Given the description of an element on the screen output the (x, y) to click on. 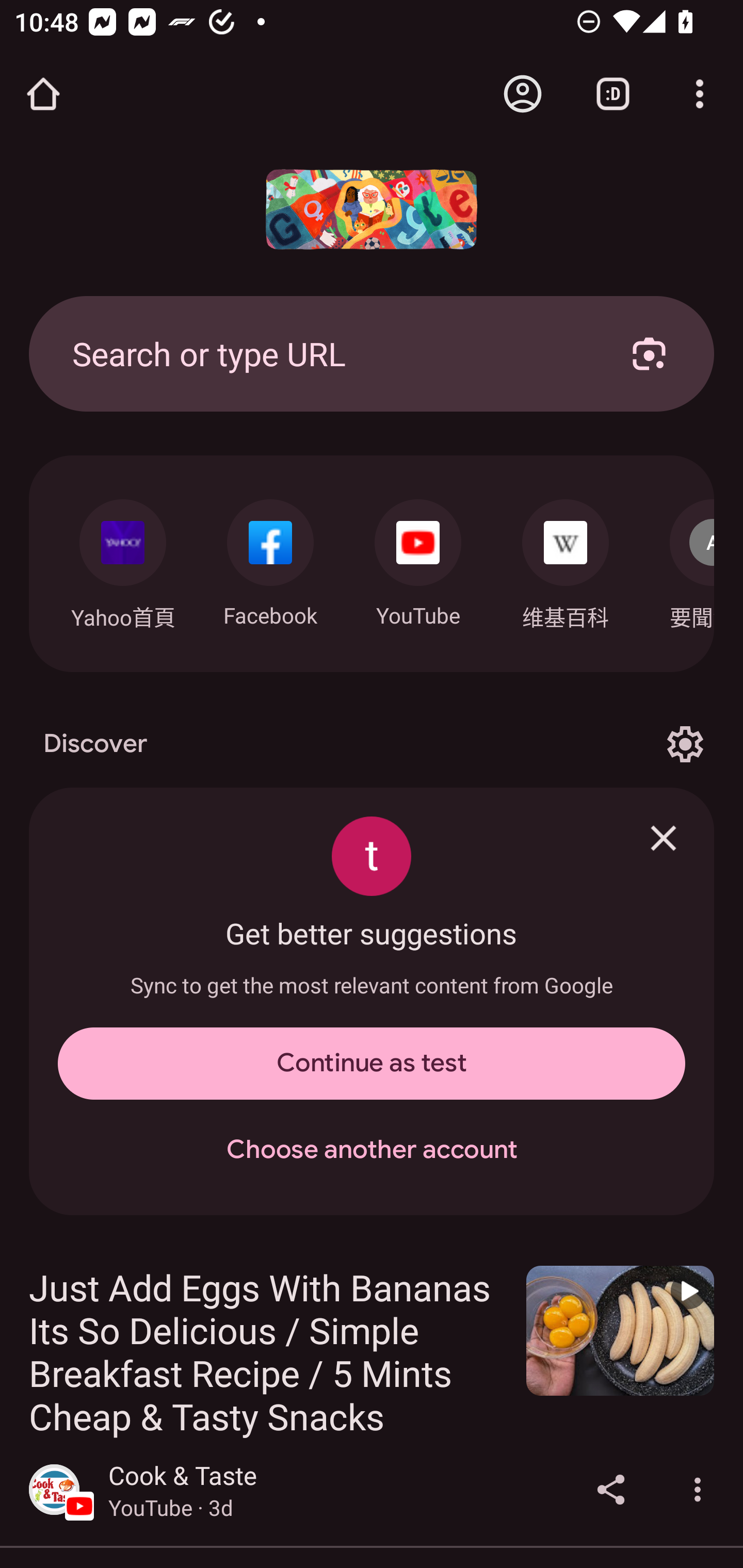
Open the home page (43, 93)
Switch or close tabs (612, 93)
Customize and control Google Chrome (699, 93)
Google doodle: 2024 年國際婦女節 (371, 209)
Search or type URL (327, 353)
Search with your camera using Google Lens (648, 353)
Navigate: Yahoo首頁: hk.mobi.yahoo.com Yahoo首頁 (122, 558)
Navigate: Facebook: m.facebook.com Facebook (270, 558)
Navigate: YouTube: m.youtube.com YouTube (417, 558)
Navigate: 维基百科: zh.m.wikipedia.org 维基百科 (565, 558)
Options for Discover (684, 743)
Close (663, 837)
Continue as test (371, 1063)
Choose another account (371, 1150)
